Given the description of an element on the screen output the (x, y) to click on. 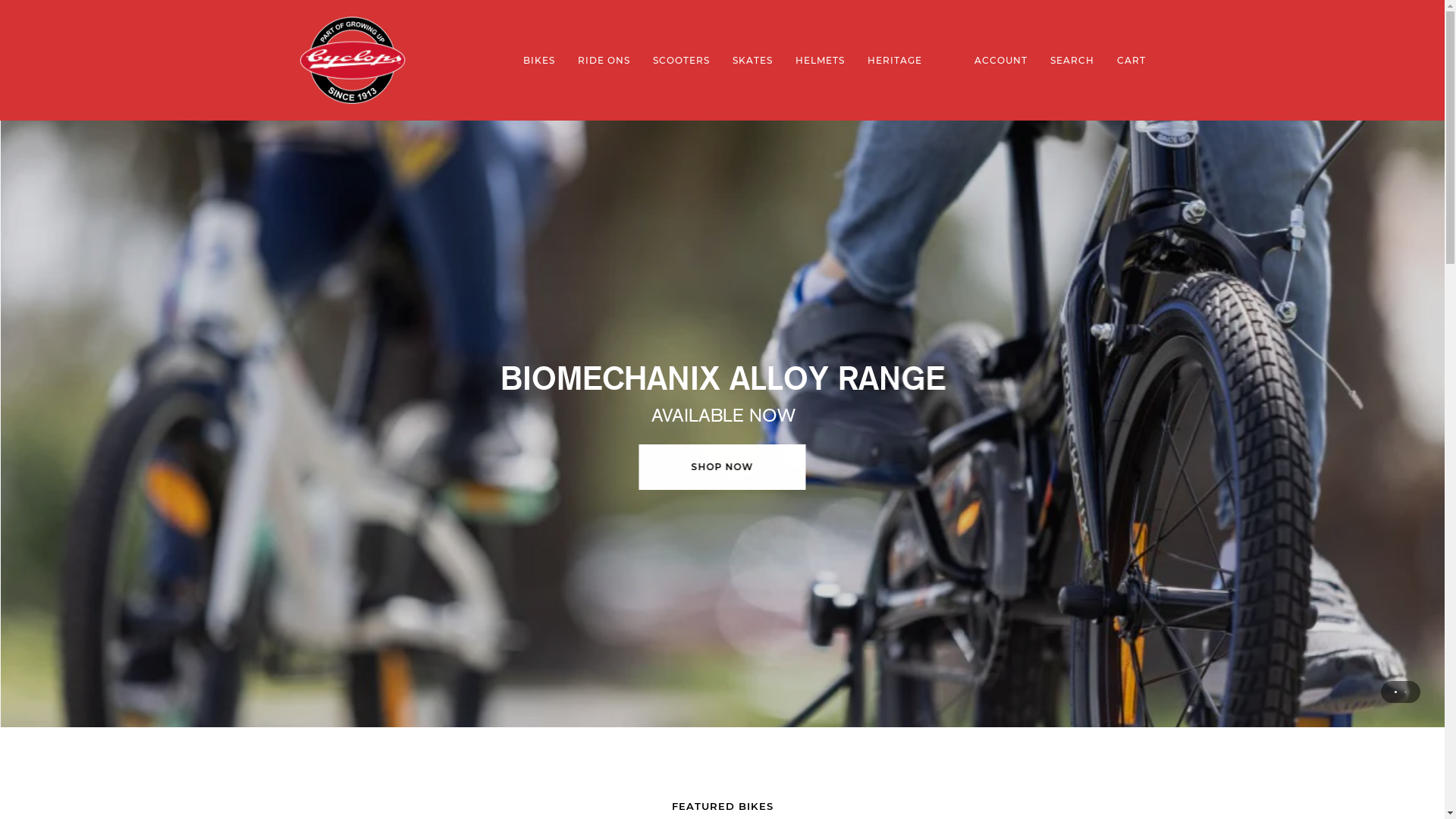
ACCOUNT Element type: text (1000, 60)
BIKES Element type: text (538, 60)
HELMETS Element type: text (820, 60)
SCOOTERS Element type: text (681, 60)
SHOP NOW Element type: text (721, 466)
RIDE ONS Element type: text (602, 60)
CART Element type: text (1131, 60)
SEARCH Element type: text (1071, 60)
HERITAGE Element type: text (893, 60)
SKATES Element type: text (751, 60)
